Given the description of an element on the screen output the (x, y) to click on. 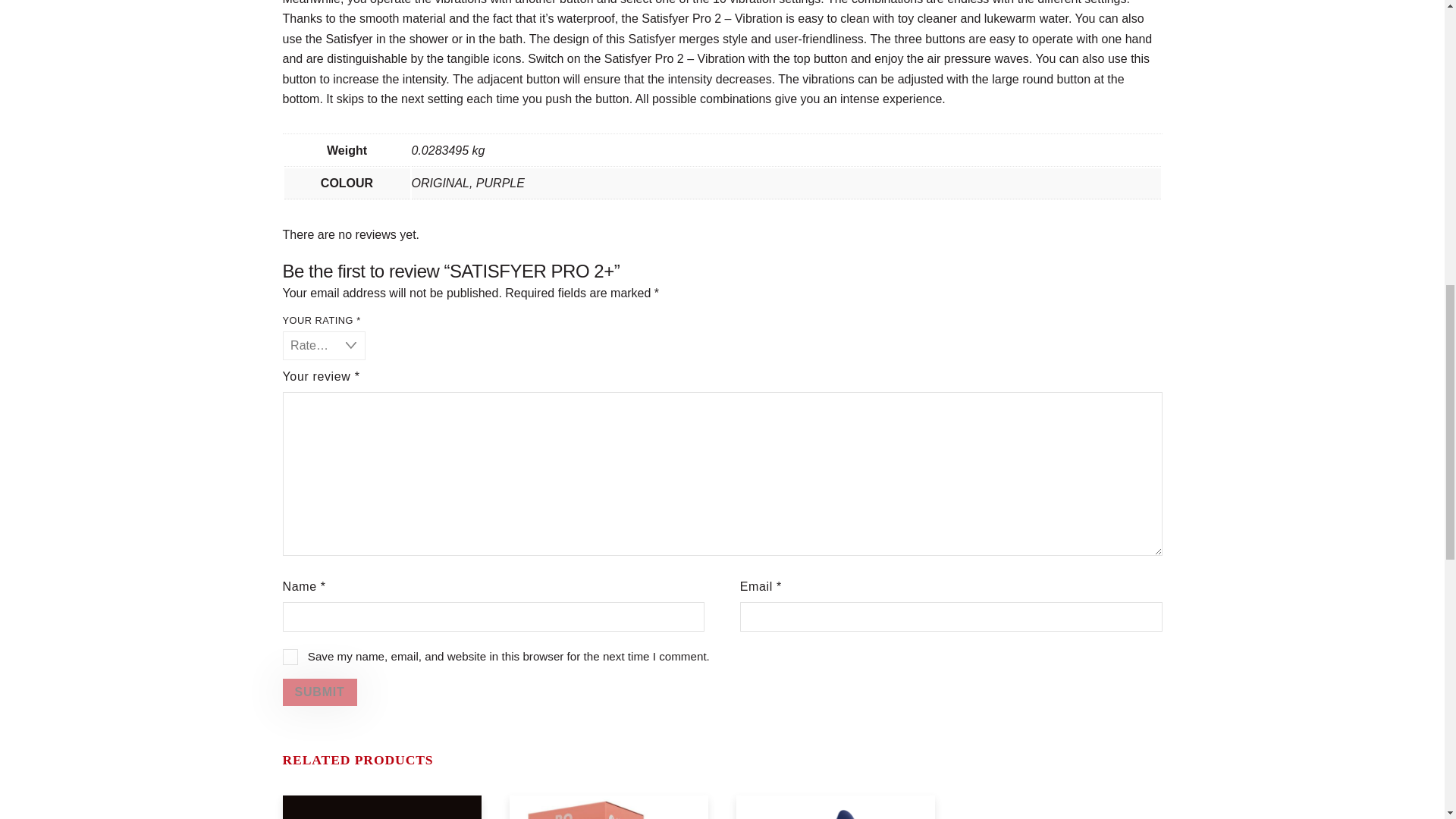
Submit (319, 691)
Submit (319, 691)
yes (290, 657)
